Given the description of an element on the screen output the (x, y) to click on. 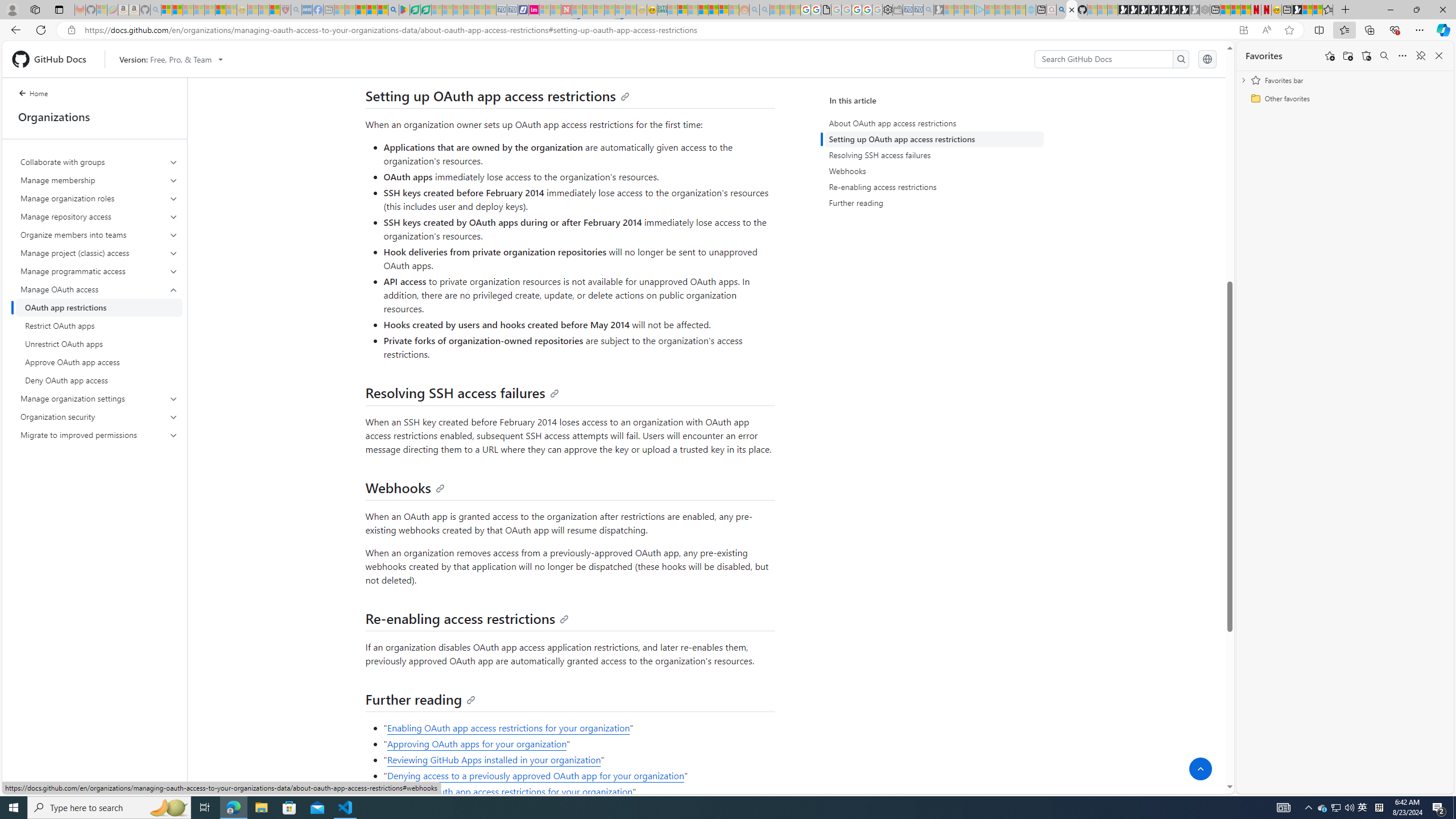
Wildlife - MSN (1307, 9)
Enabling OAuth app access restrictions for your organization (508, 727)
Webhooks (404, 486)
Organize members into teams (99, 235)
